Given the description of an element on the screen output the (x, y) to click on. 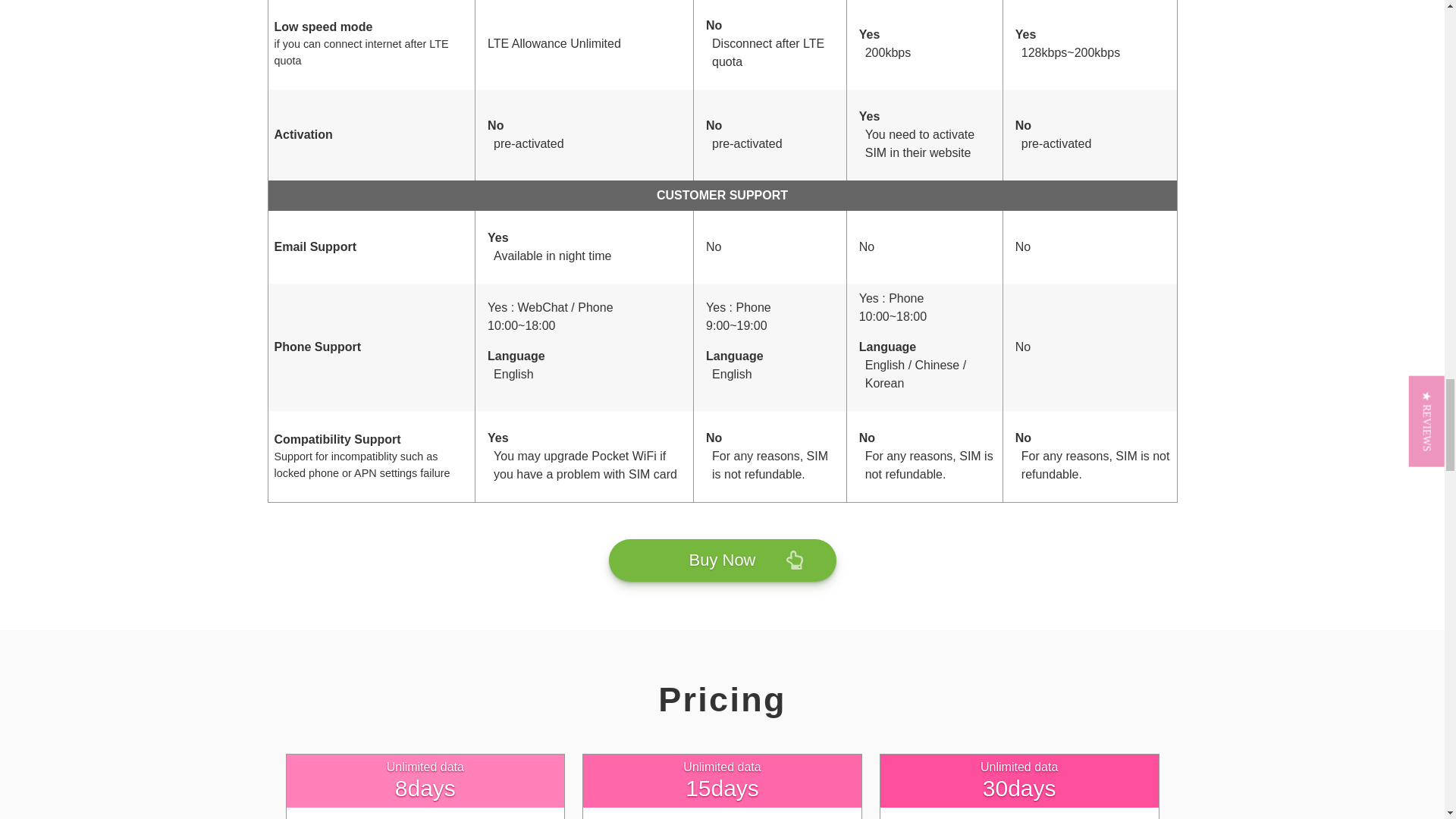
Buy Now (721, 559)
